Given the description of an element on the screen output the (x, y) to click on. 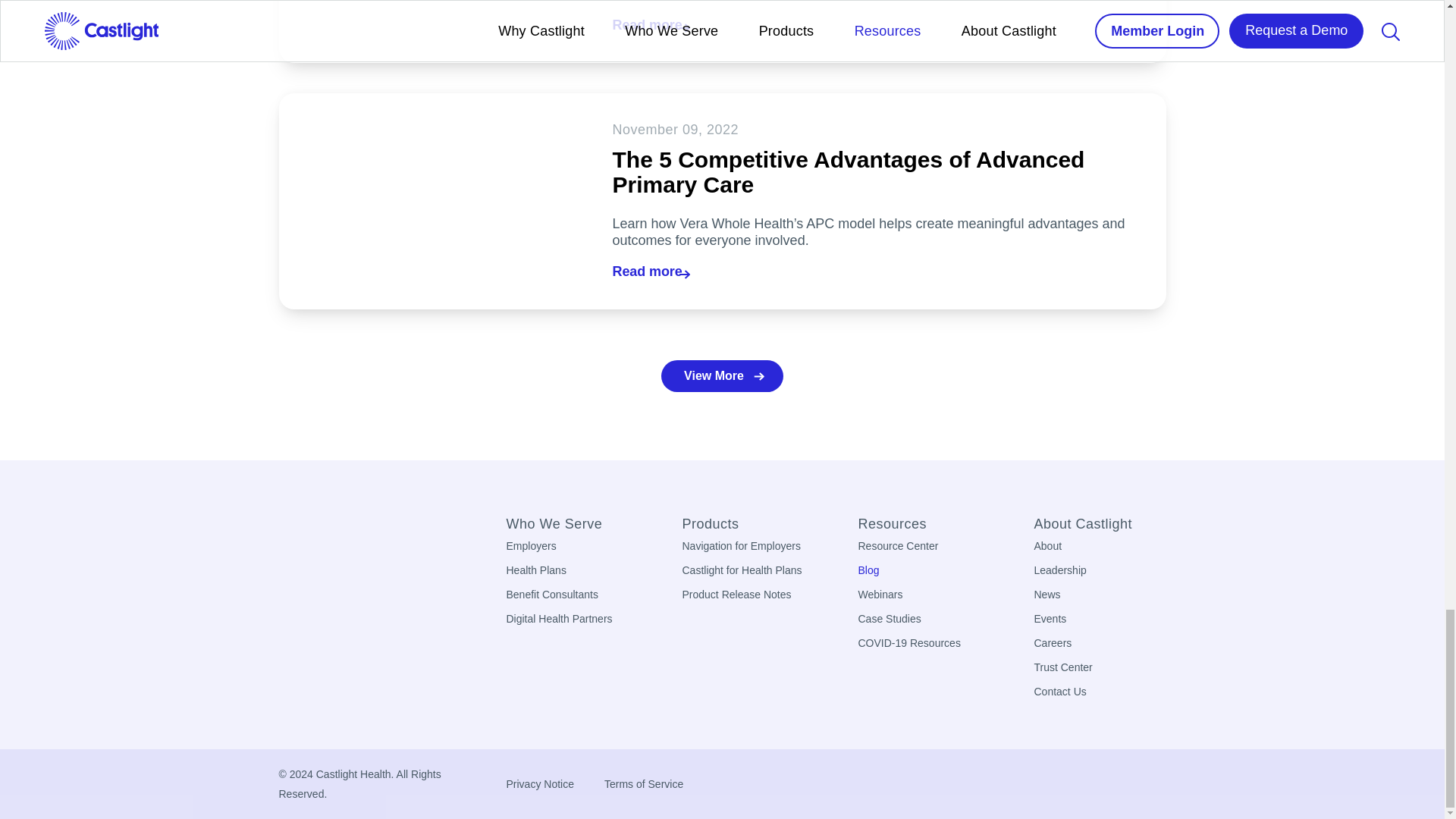
Doctor sharing good test results with patient (430, 31)
Castlight Health - Health Navigation Platform (304, 532)
View More (722, 376)
